Given the description of an element on the screen output the (x, y) to click on. 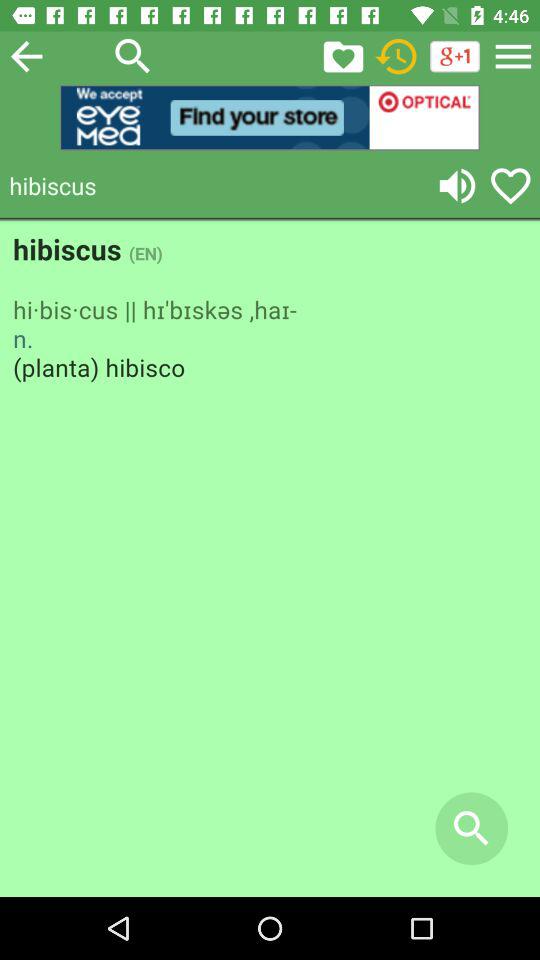
click to the like (510, 185)
